Given the description of an element on the screen output the (x, y) to click on. 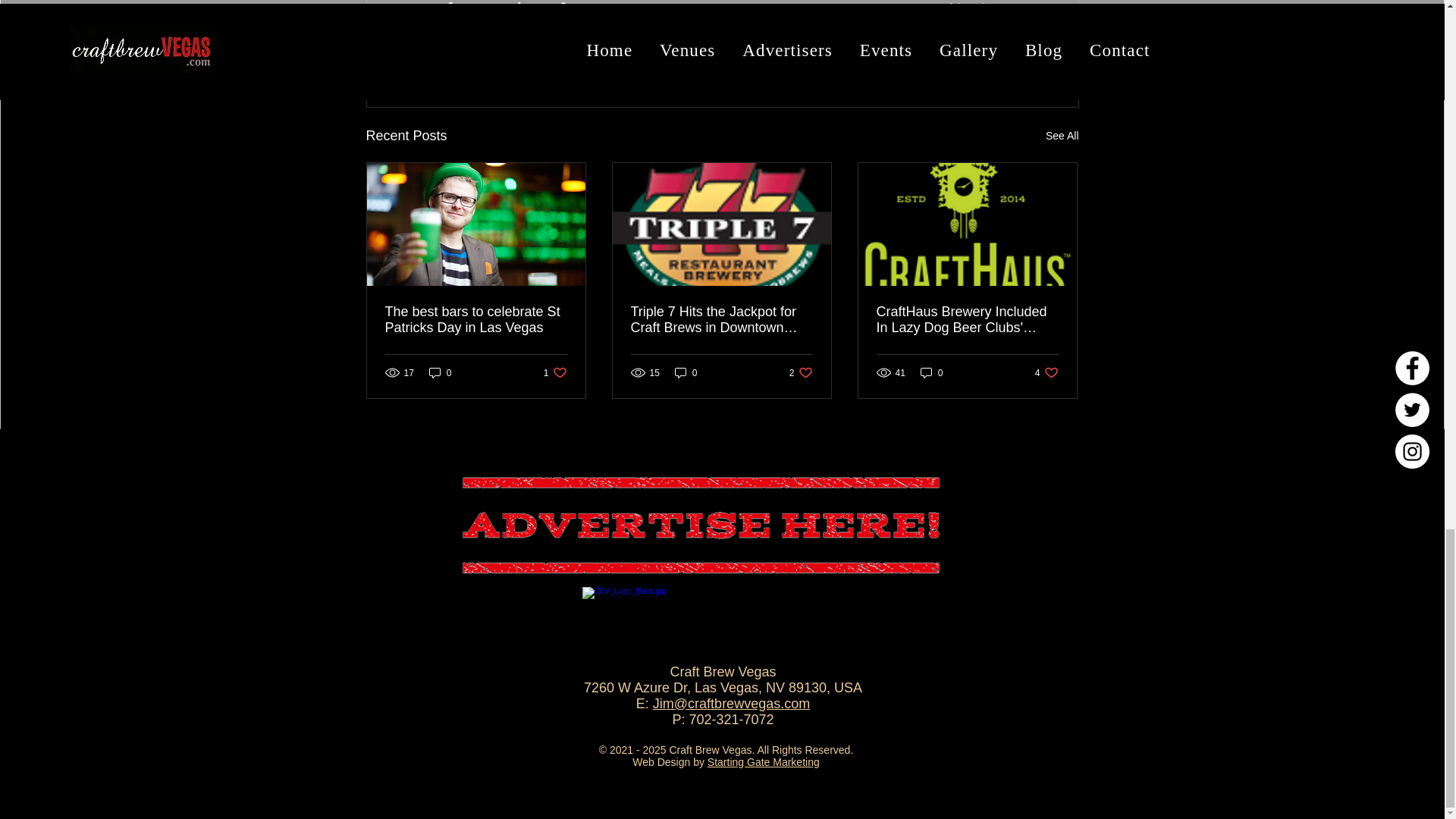
craft beer bars (968, 7)
See All (990, 52)
The best bars to celebrate St Patricks Day in Las Vegas (1061, 136)
0 (476, 319)
